Given the description of an element on the screen output the (x, y) to click on. 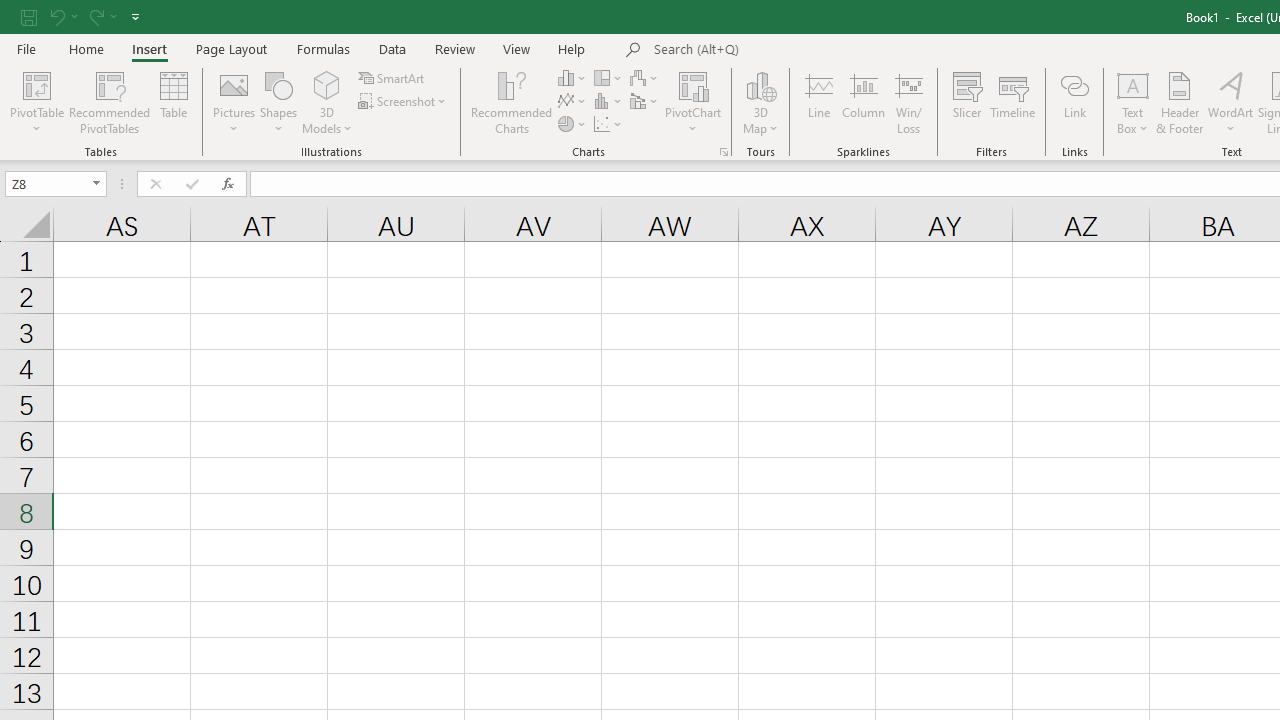
Draw Horizontal Text Box (1133, 84)
Pictures (234, 102)
Insert Combo Chart (645, 101)
Slicer... (966, 102)
Shapes (278, 102)
Microsoft search (792, 49)
Insert Waterfall, Funnel, Stock, Surface, or Radar Chart (645, 78)
Insert Hierarchy Chart (609, 78)
